Given the description of an element on the screen output the (x, y) to click on. 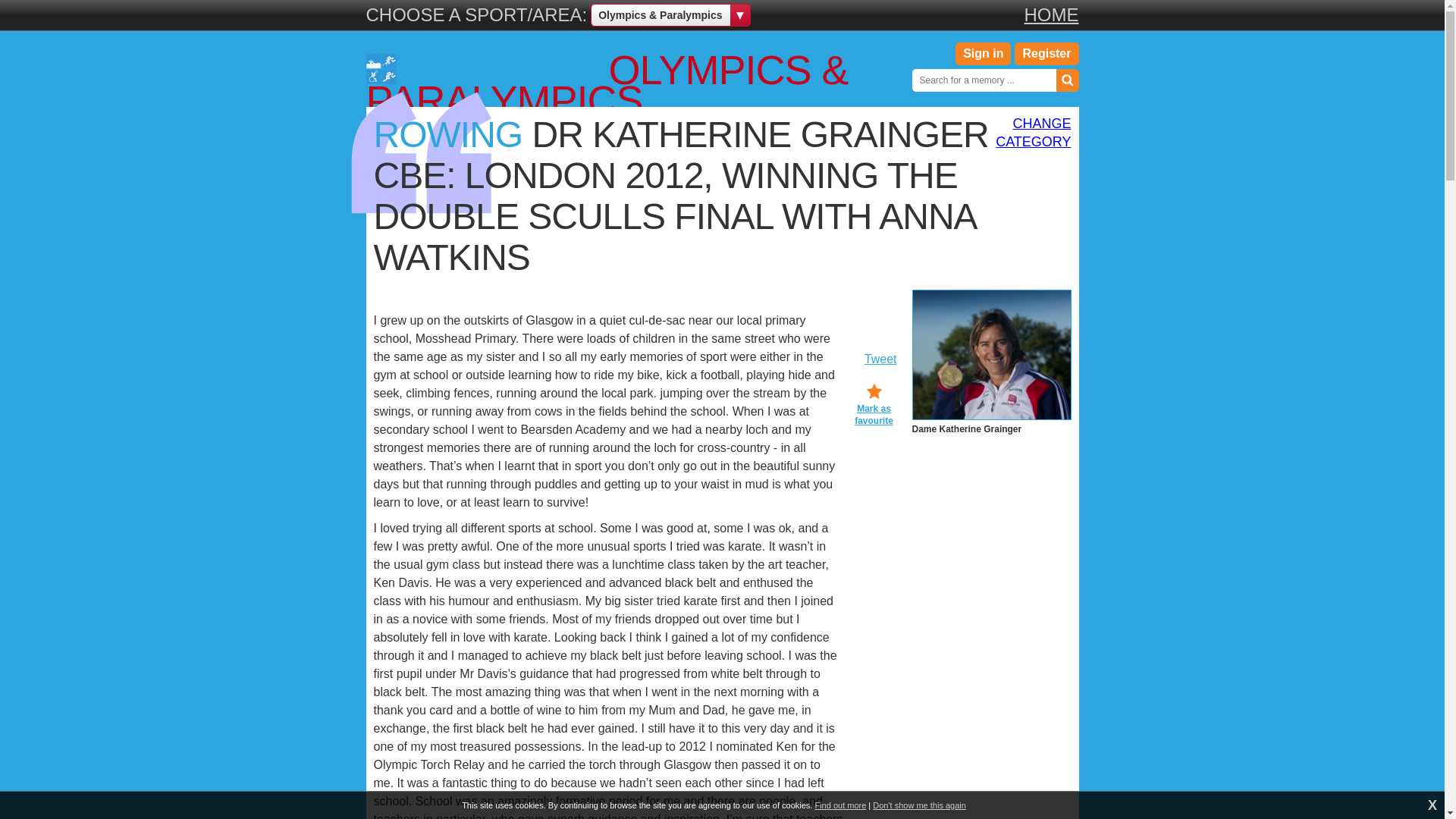
Dame Katherine Grainger (990, 356)
Mark as favourite (873, 405)
Register (1046, 53)
ROWING (1032, 132)
HOME (447, 134)
Tweet (1050, 14)
Sign in (880, 359)
